Given the description of an element on the screen output the (x, y) to click on. 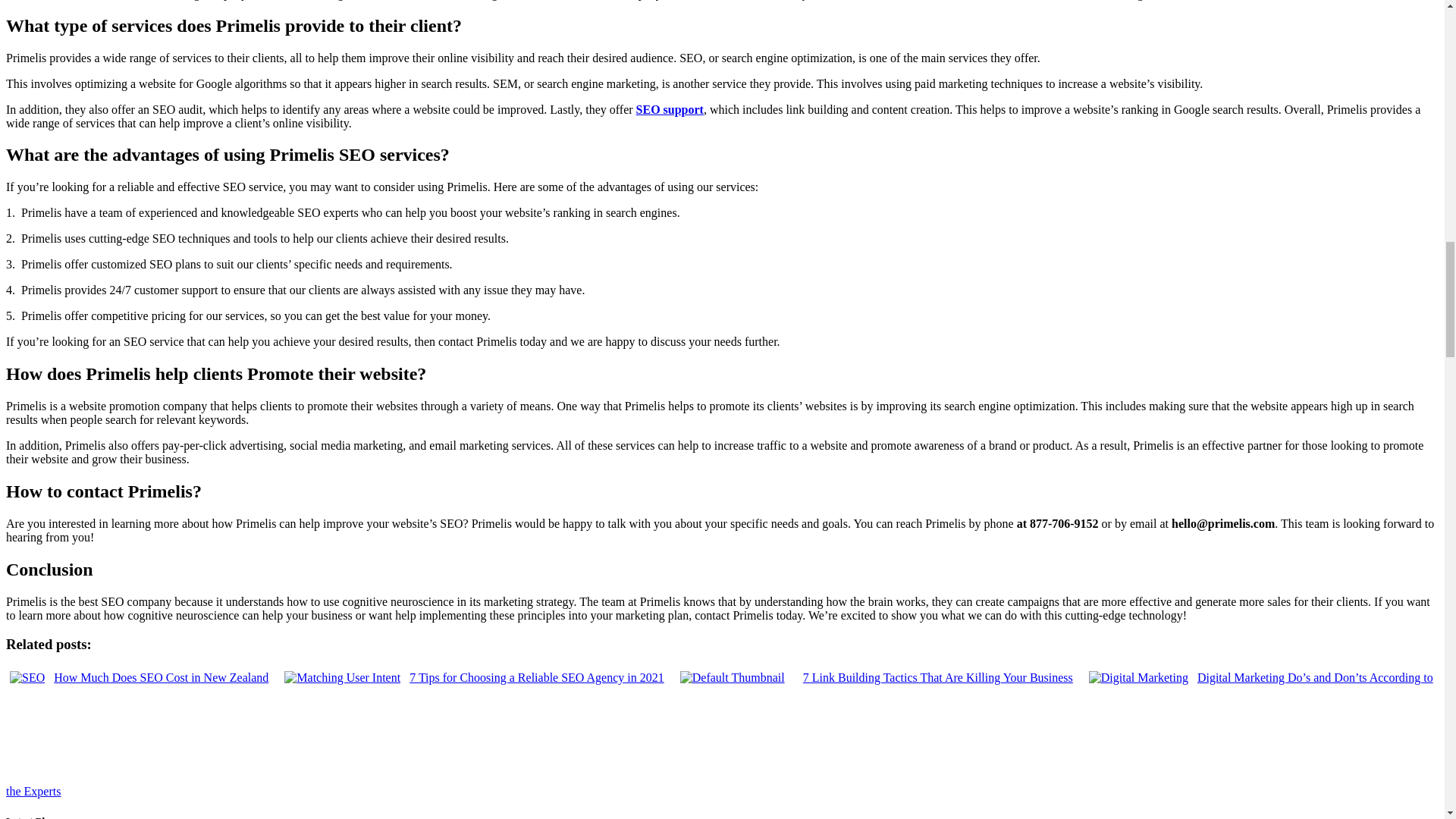
How Much Does SEO Cost in New Zealand (139, 676)
7 Tips for Choosing a Reliable SEO Agency in 2021 (474, 676)
7 Link Building Tactics That Are Killing Your Business (877, 676)
7 Link Building Tactics That Are Killing Your Business (877, 676)
SEO support (669, 109)
7 Tips for Choosing a Reliable SEO Agency in 2021 (474, 676)
How Much Does SEO Cost in New Zealand (139, 676)
